Given the description of an element on the screen output the (x, y) to click on. 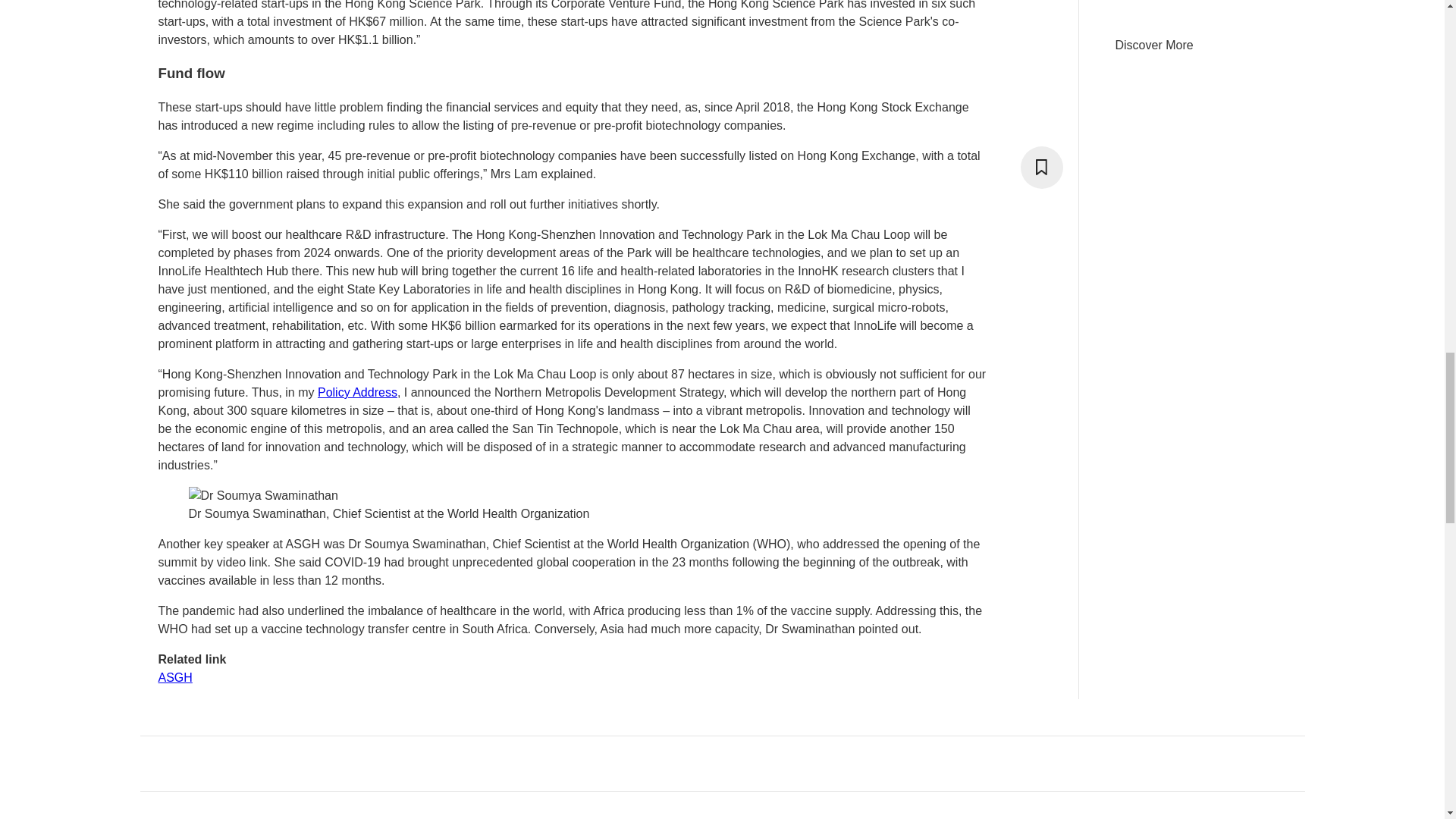
Dr Soumya Swaminathan (262, 495)
